Given the description of an element on the screen output the (x, y) to click on. 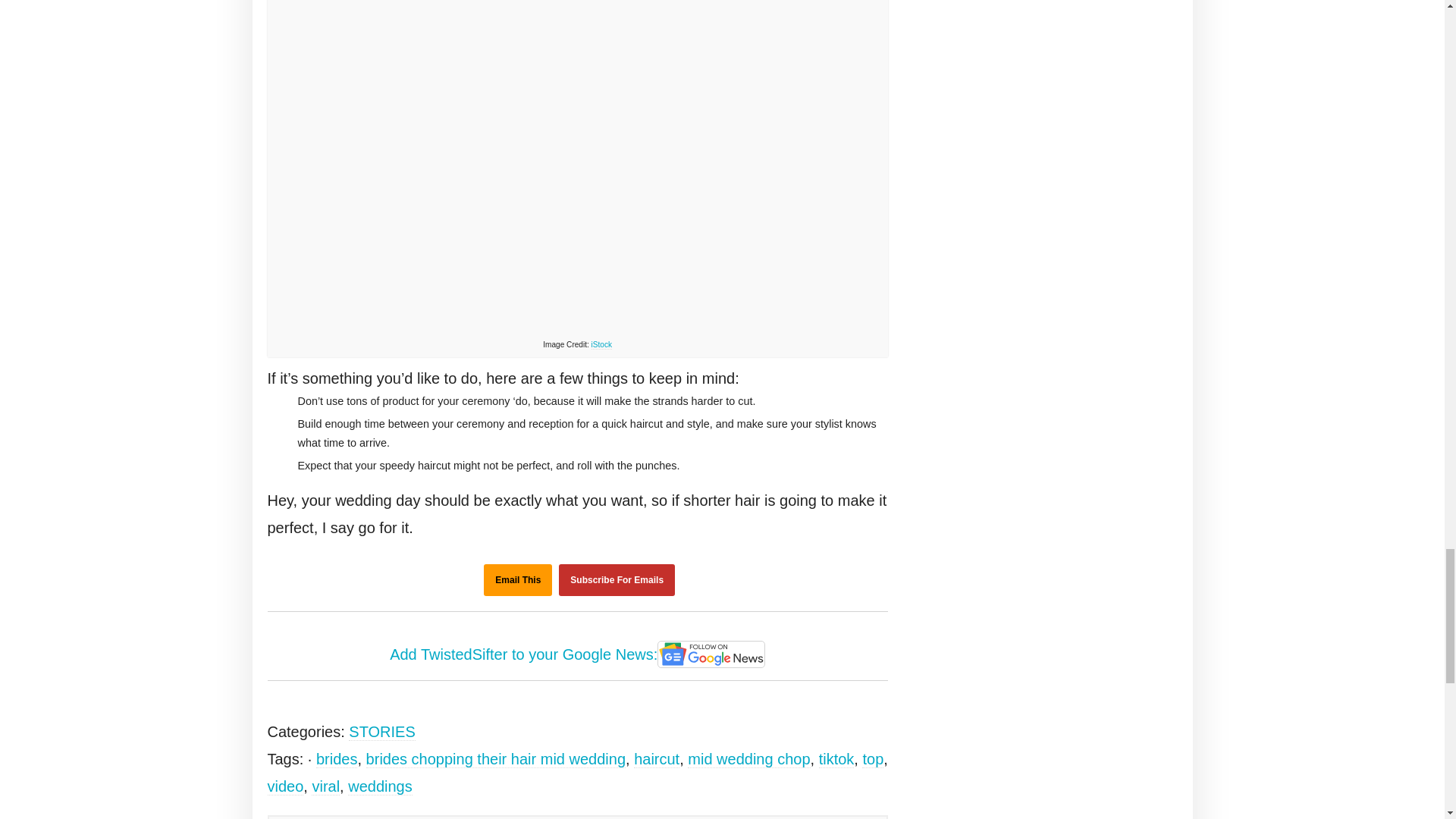
Add TwistedSifter to your Google News: (577, 655)
Email This (517, 580)
Google News (711, 654)
STORIES (381, 732)
Subscribe For Emails (617, 580)
iStock (601, 344)
brides chopping their hair mid wedding (496, 759)
brides (335, 759)
